Given the description of an element on the screen output the (x, y) to click on. 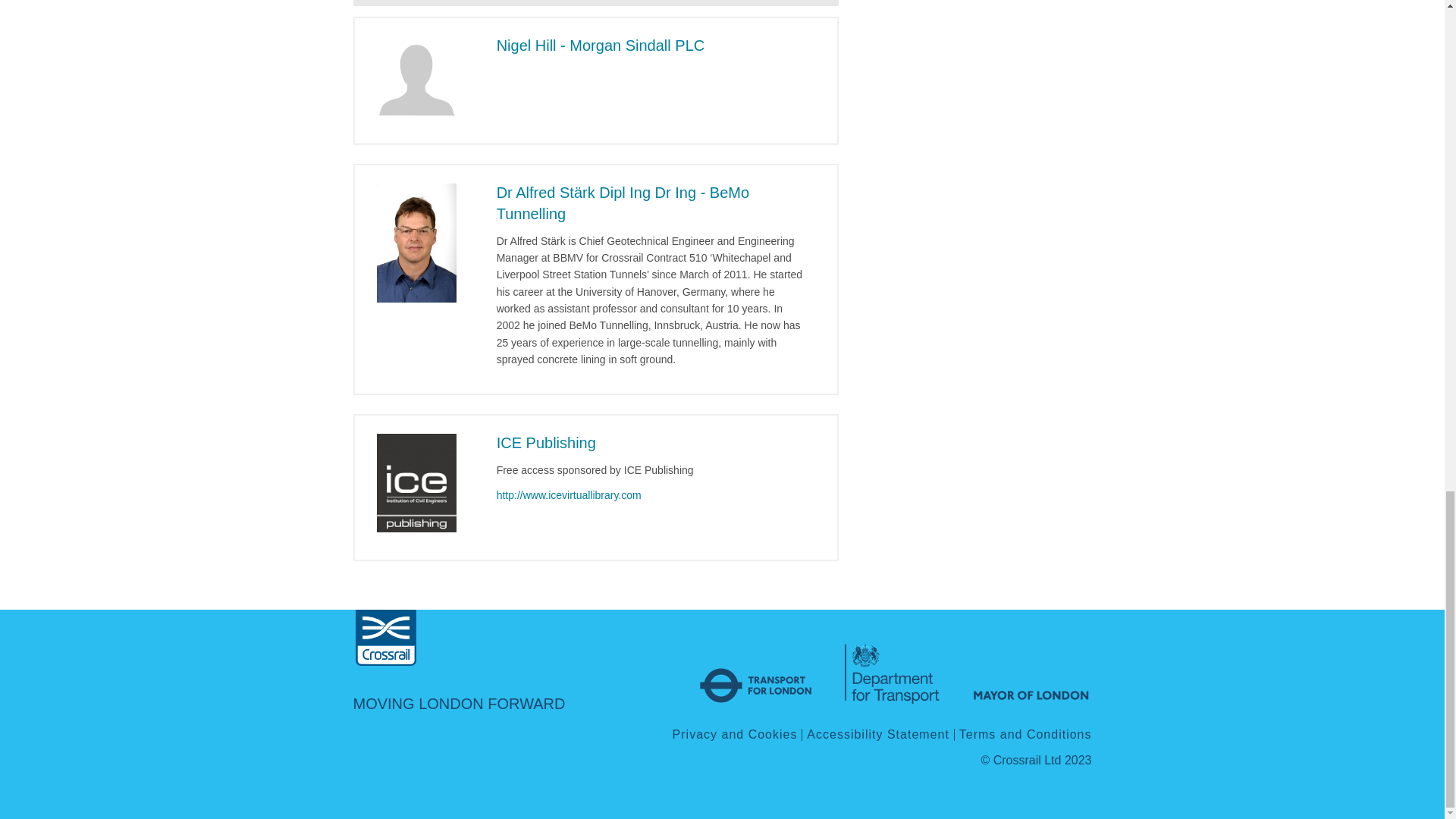
Go to the 'Transport for London' website (756, 665)
Go to 'Department for Transport' website (891, 665)
Return to the Crossrail homepage (384, 639)
Go to 'Mayor of London' website (1030, 665)
